Given the description of an element on the screen output the (x, y) to click on. 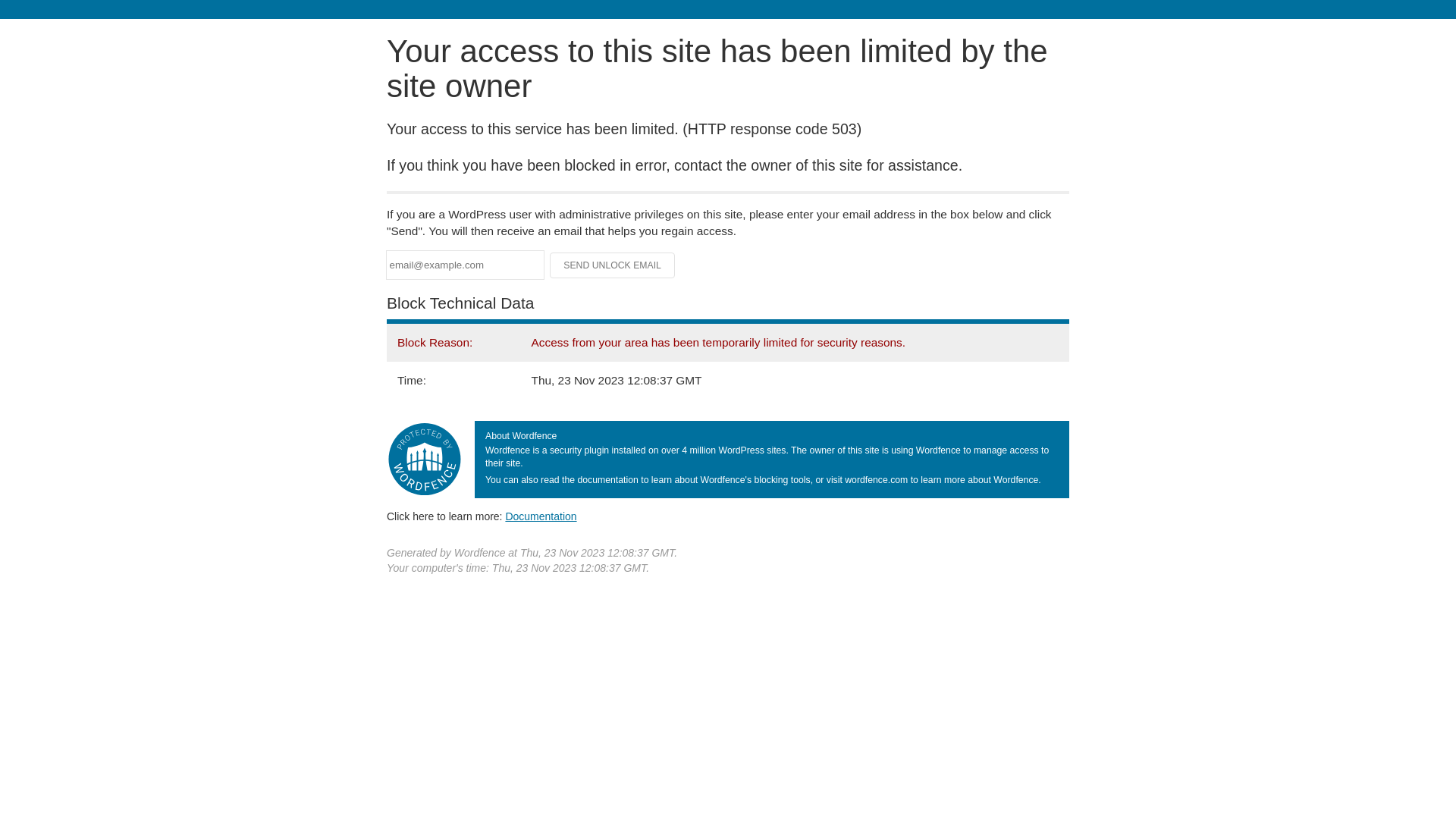
Send Unlock Email Element type: text (612, 265)
Documentation Element type: text (540, 516)
